Given the description of an element on the screen output the (x, y) to click on. 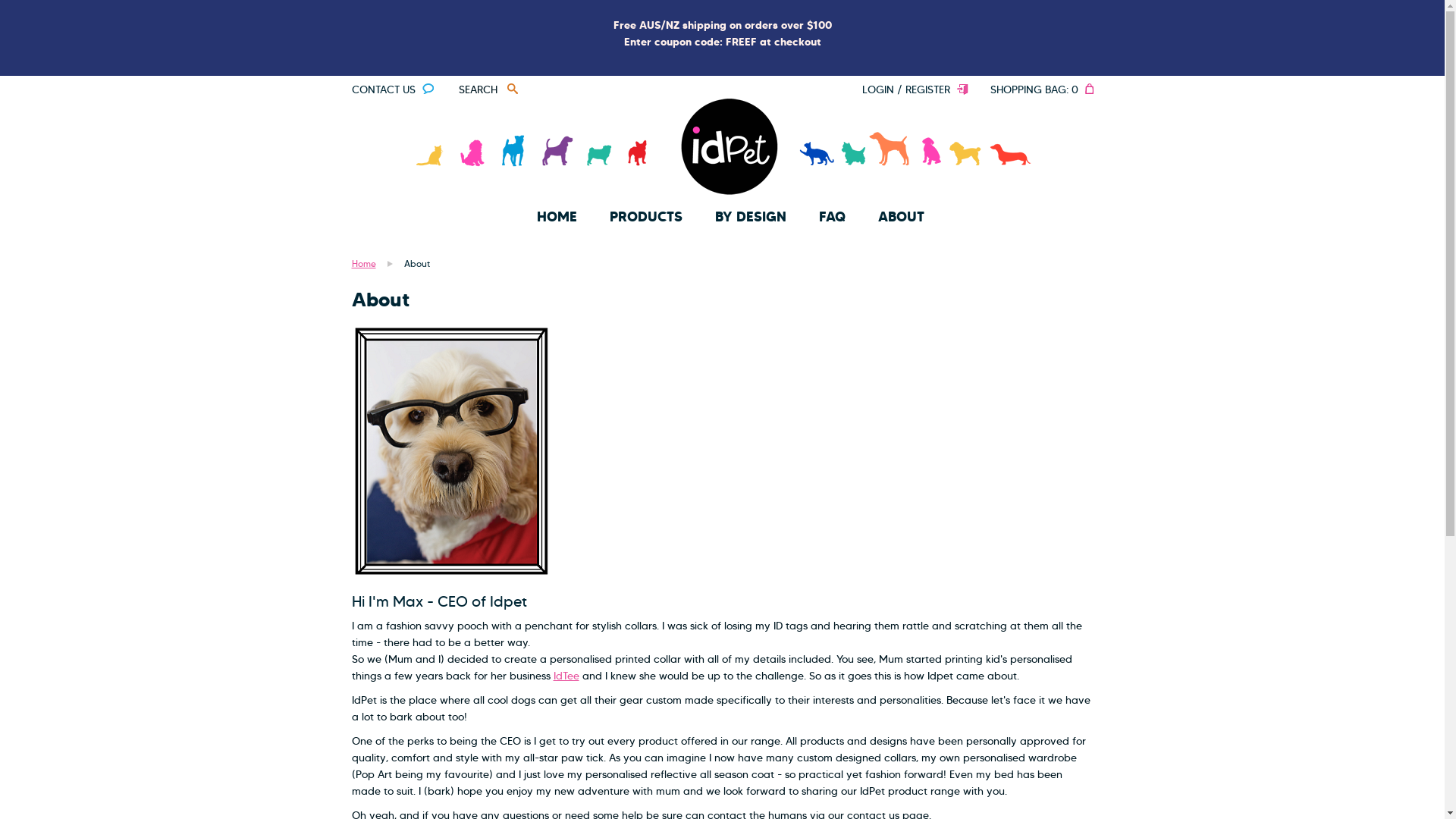
SHOPPING BAG: 0 Element type: text (1041, 88)
HOME Element type: text (556, 216)
LOGIN / REGISTER Element type: text (914, 88)
 IDPET  Element type: hover (723, 147)
ABOUT Element type: text (901, 216)
Home Element type: text (363, 263)
FAQ Element type: text (832, 216)
CONTACT US Element type: text (392, 88)
Search Element type: text (511, 88)
IdTee Element type: text (566, 675)
